Given the description of an element on the screen output the (x, y) to click on. 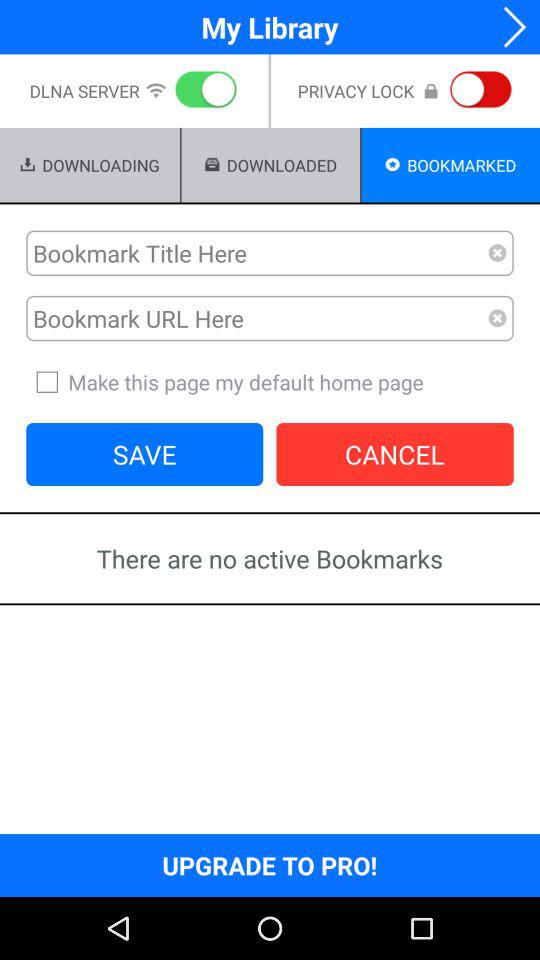
input bookmark title (257, 253)
